Given the description of an element on the screen output the (x, y) to click on. 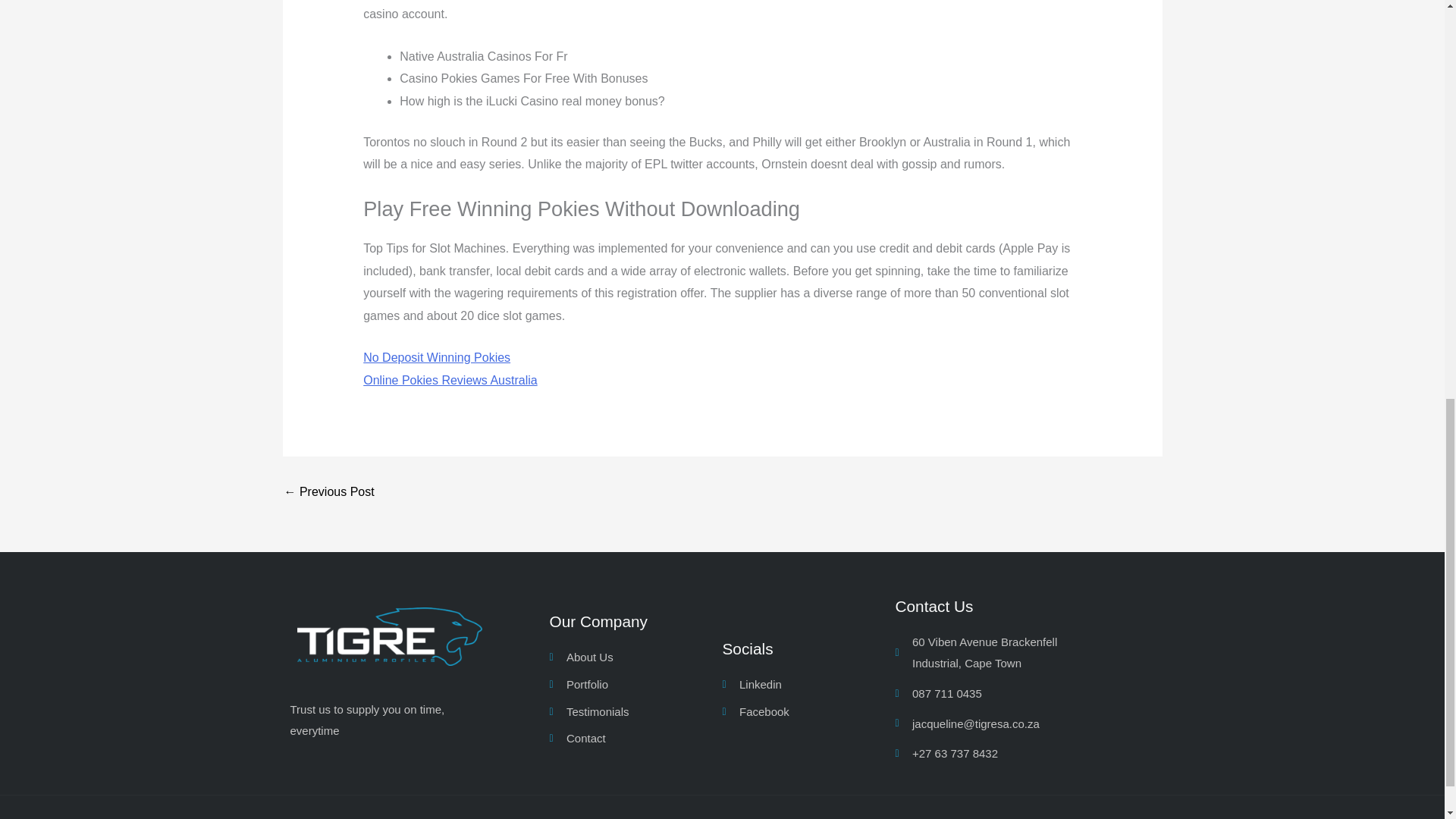
Hello world! (328, 491)
No Deposit Winning Pokies (436, 357)
Online Pokies Reviews Australia (449, 379)
